Given the description of an element on the screen output the (x, y) to click on. 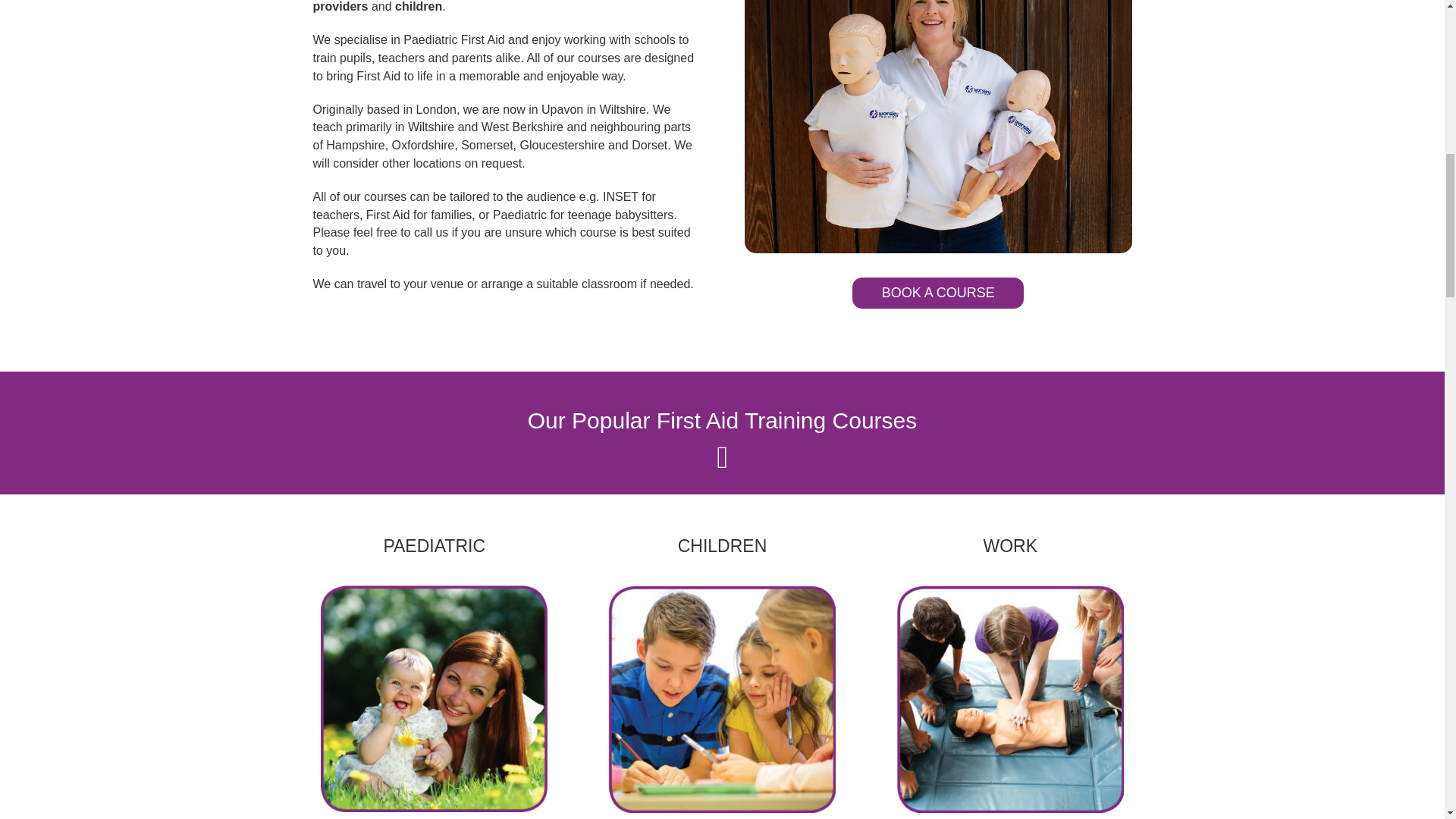
Baby and Child First Aid For parents and au pairs (434, 699)
Mini Life-Savers. First Aid for primary school children (721, 699)
Basic First Aid at Work (1010, 699)
RMP paed (937, 126)
